Given the description of an element on the screen output the (x, y) to click on. 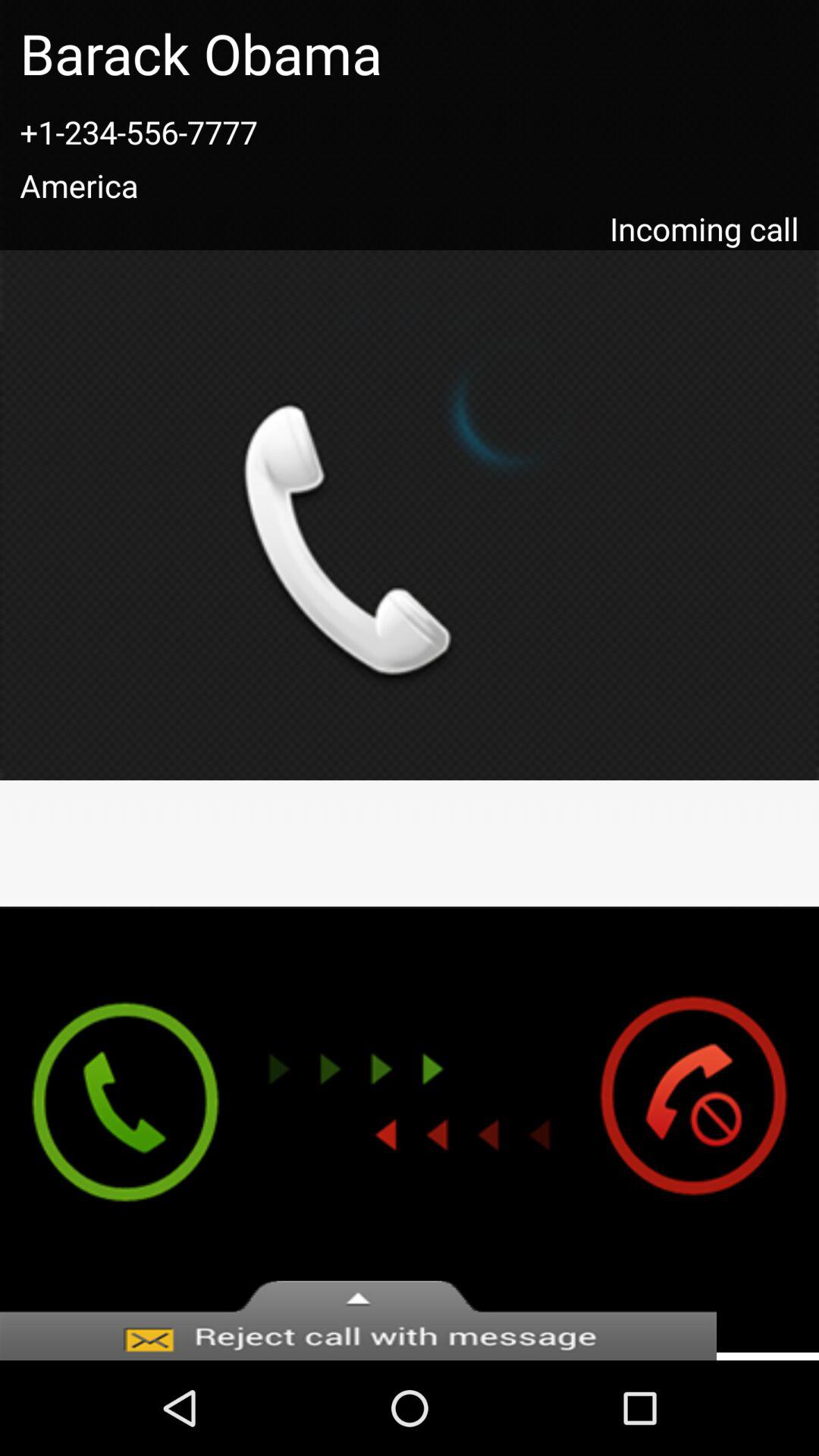
ignore the incoming call (707, 1129)
